Given the description of an element on the screen output the (x, y) to click on. 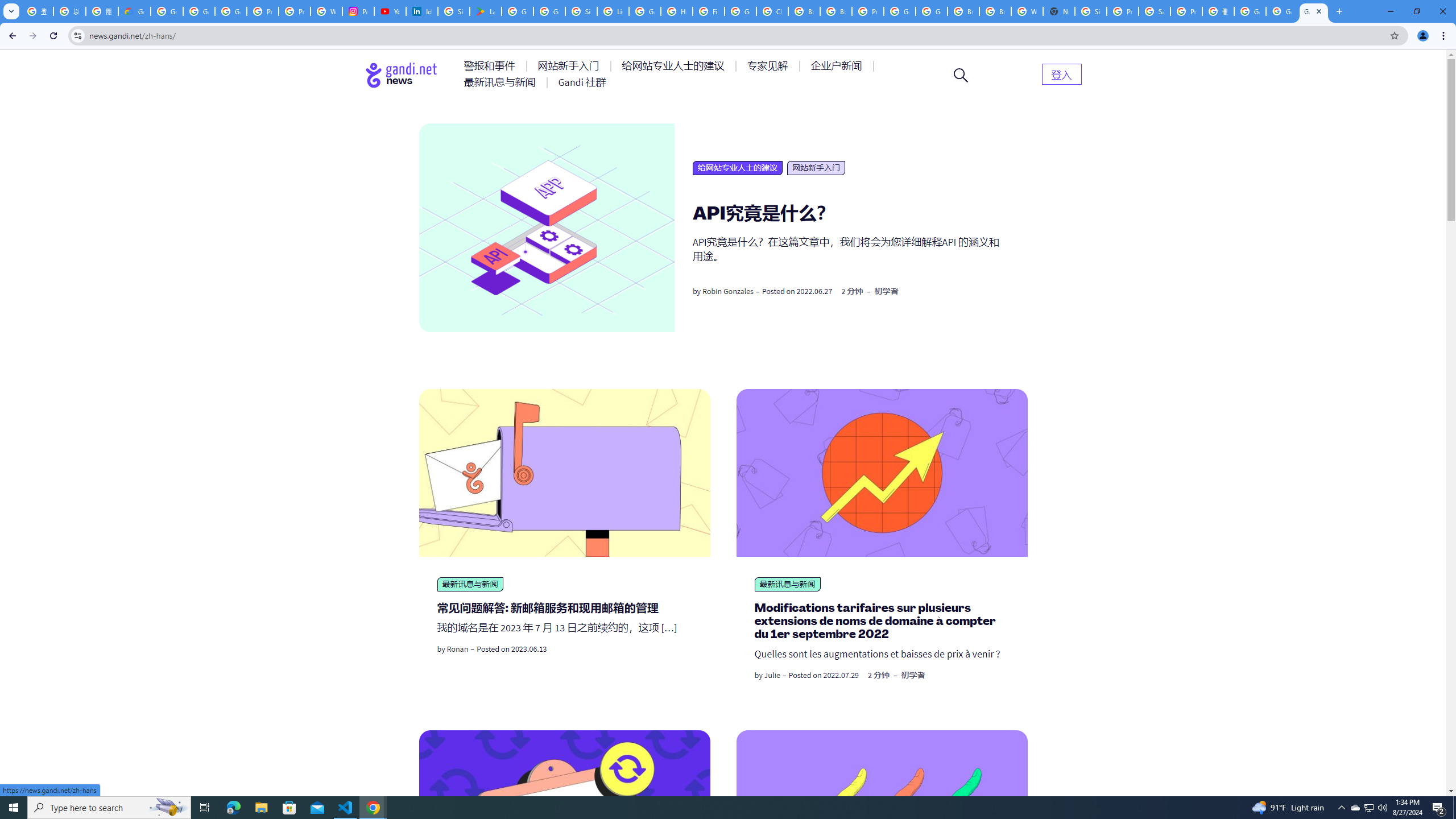
AutomationID: menu-item-77763 (674, 65)
Julie (772, 674)
Privacy Help Center - Policies Help (262, 11)
